Given the description of an element on the screen output the (x, y) to click on. 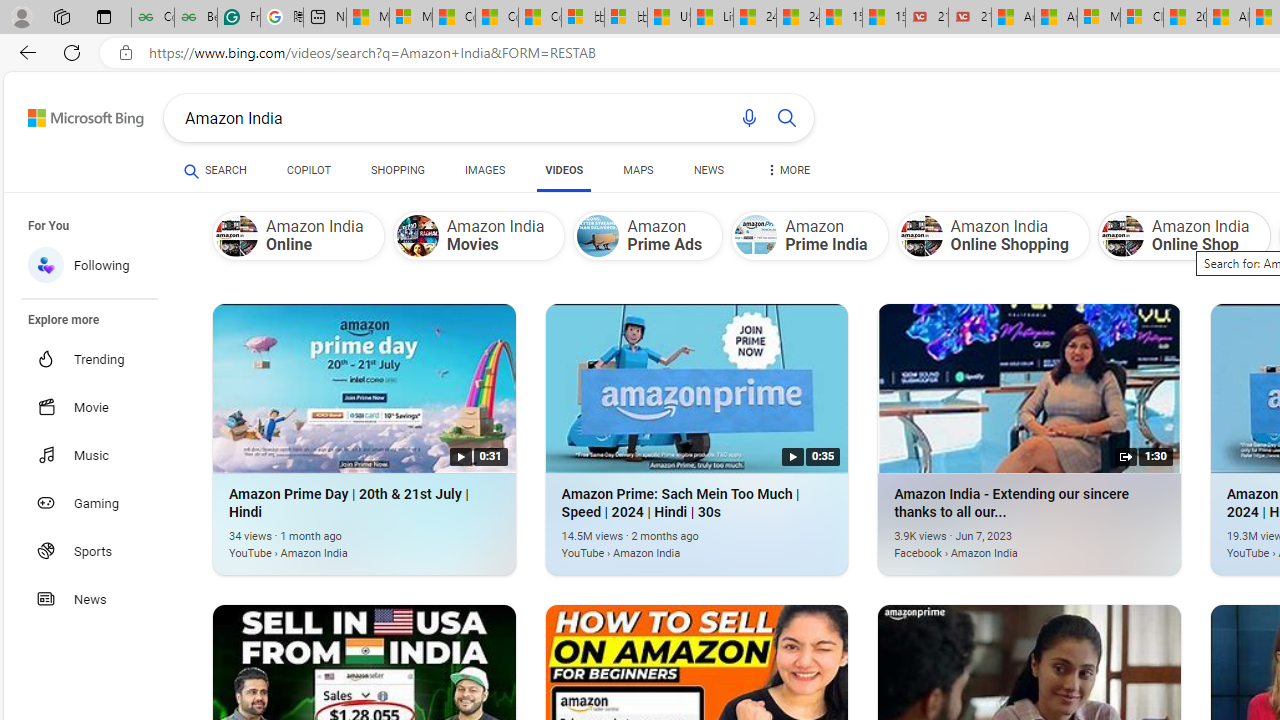
Complete Guide to Arrays Data Structure - GeeksforGeeks (152, 17)
NEWS (708, 170)
Amazon India Online Shopping (921, 236)
Best SSL Certificates Provider in India - GeeksforGeeks (196, 17)
Class: item col (1183, 235)
Amazon Prime Ads (598, 236)
Amazon Prime Day | 20th & 21st July | Hindi (334, 542)
Amazon India Movies (417, 236)
MAPS (637, 170)
